Given the description of an element on the screen output the (x, y) to click on. 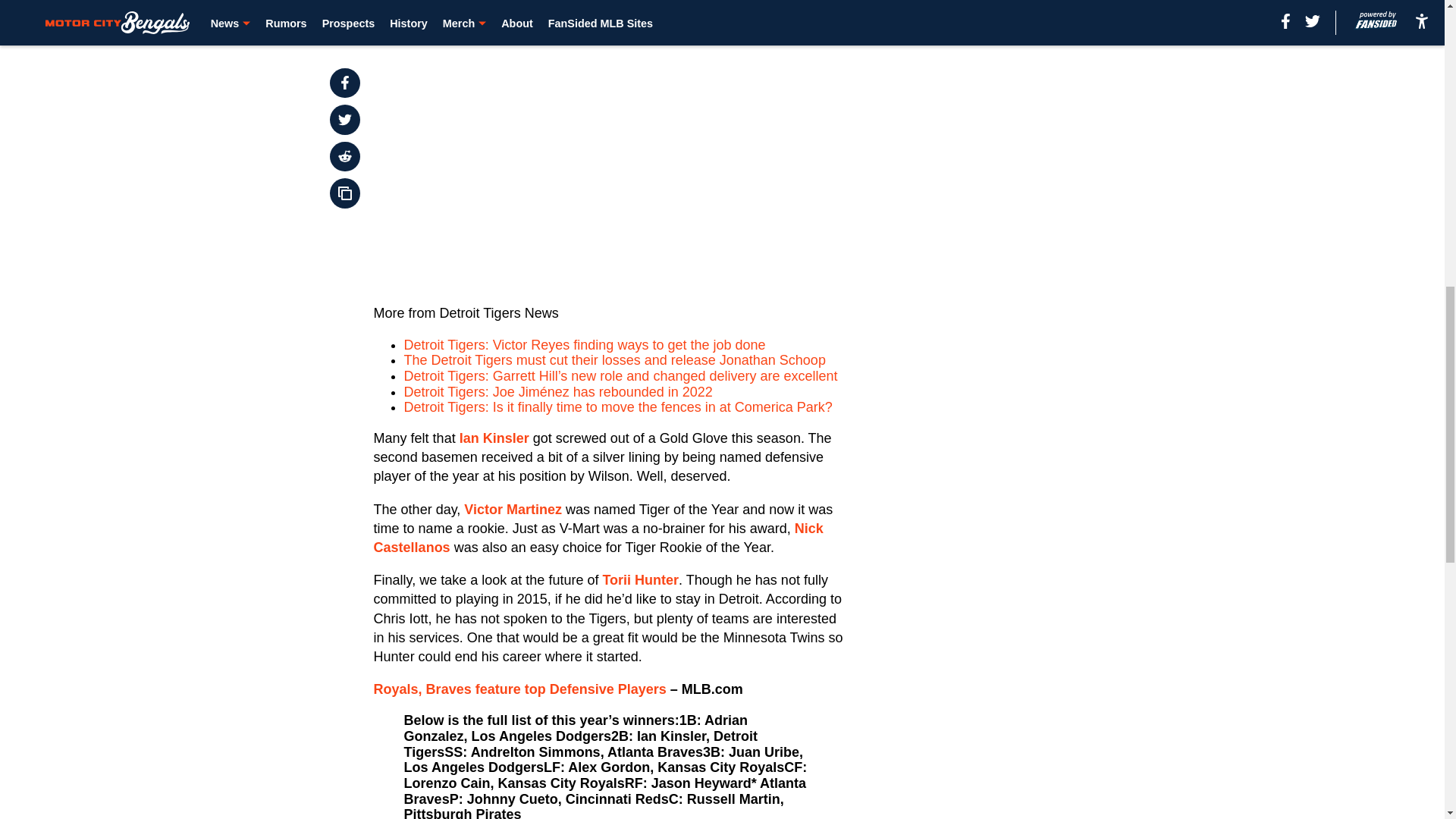
Ian Kinsler (494, 437)
Victor Martinez (513, 509)
Nick Castellanos (599, 537)
Torii Hunter (640, 580)
